Given the description of an element on the screen output the (x, y) to click on. 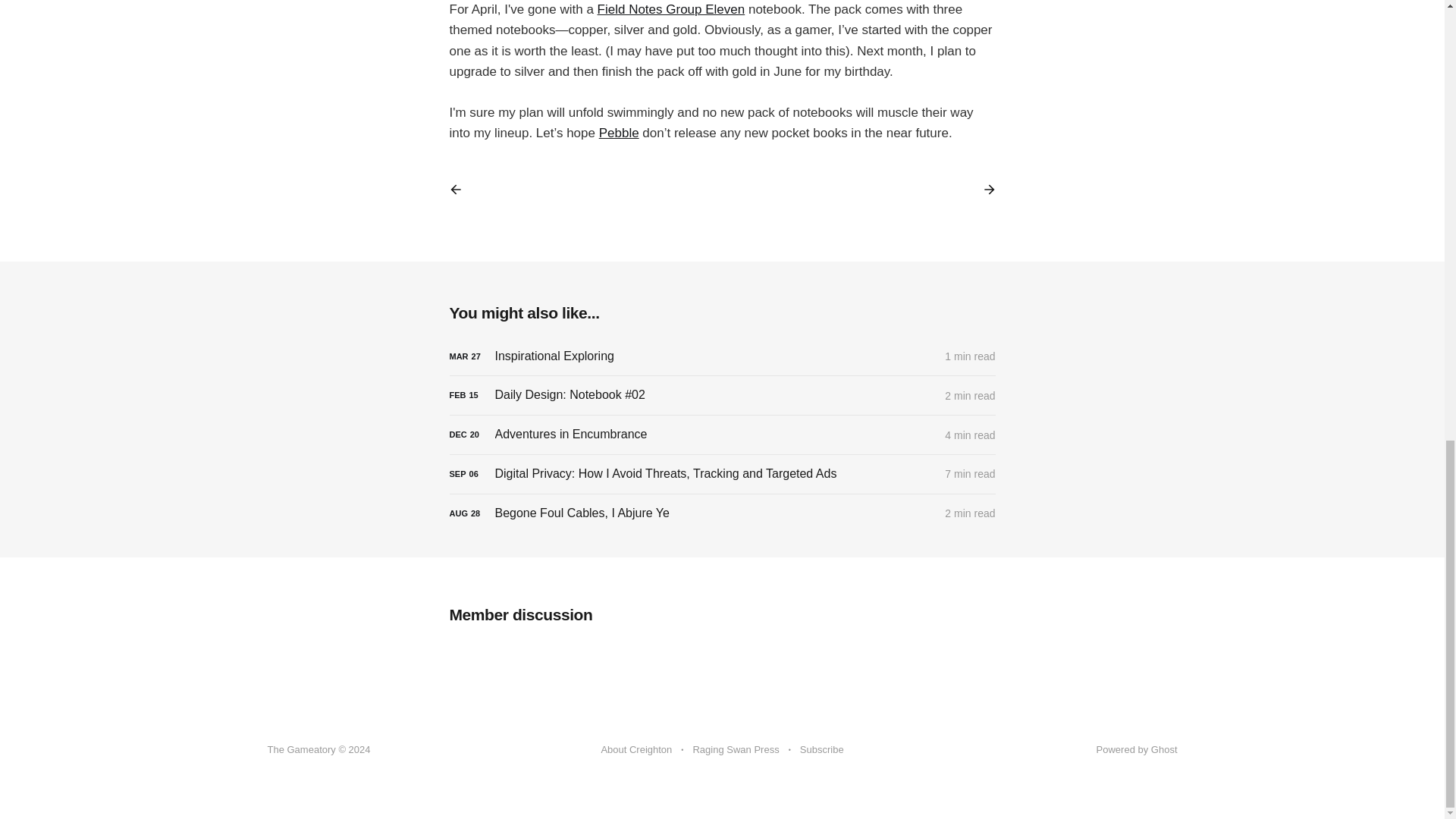
Powered by Ghost (1136, 749)
Field Notes Group Eleven (670, 9)
About Creighton (635, 750)
Raging Swan Press (735, 750)
Pebble (618, 133)
Subscribe (821, 750)
